Given the description of an element on the screen output the (x, y) to click on. 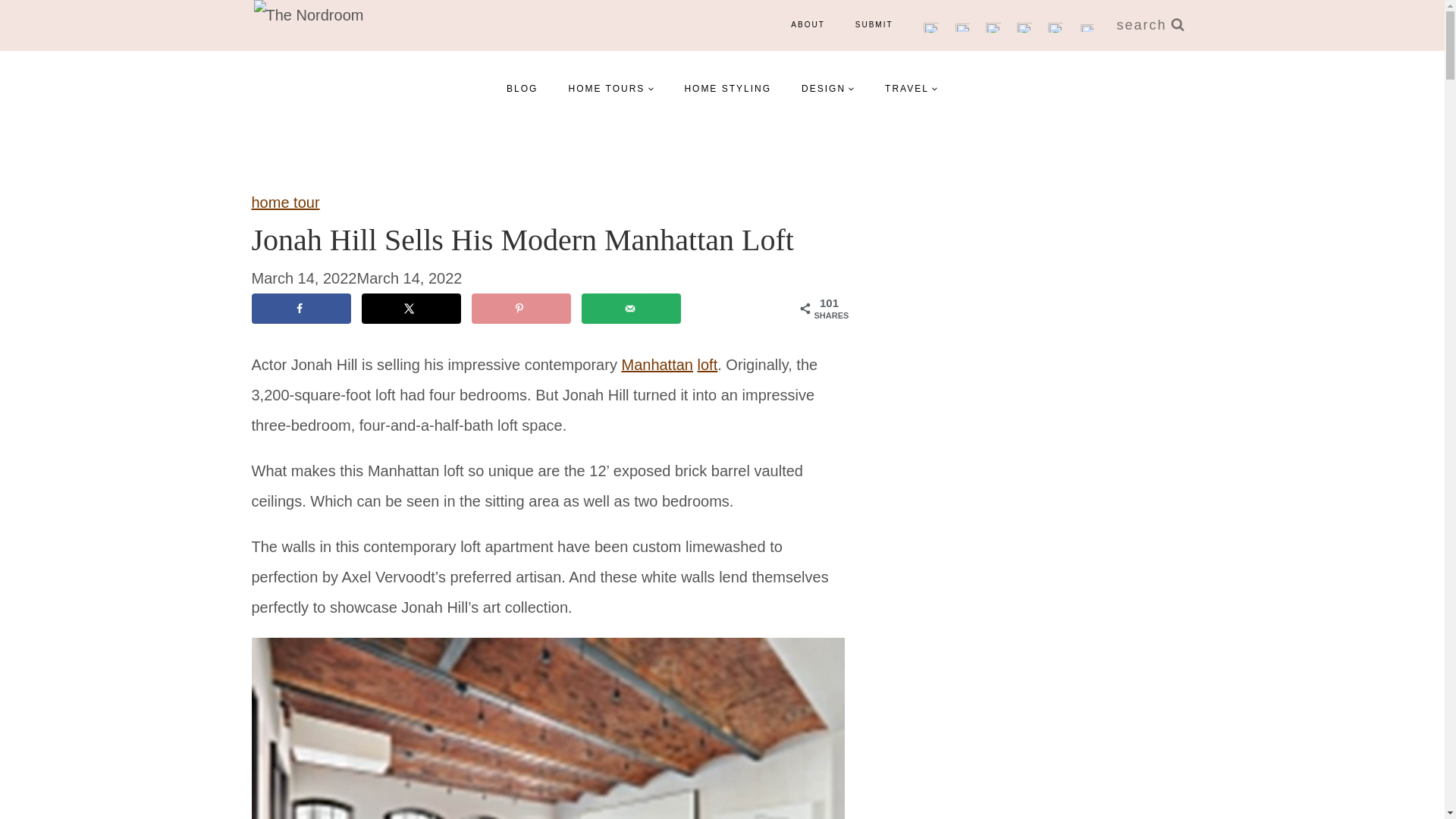
Manhattan (657, 364)
Share on X (411, 307)
HOME STYLING (727, 87)
loft (707, 364)
BLOG (522, 87)
HOME TOURS (610, 87)
SUBMIT (874, 24)
Save to Pinterest (520, 307)
